Given the description of an element on the screen output the (x, y) to click on. 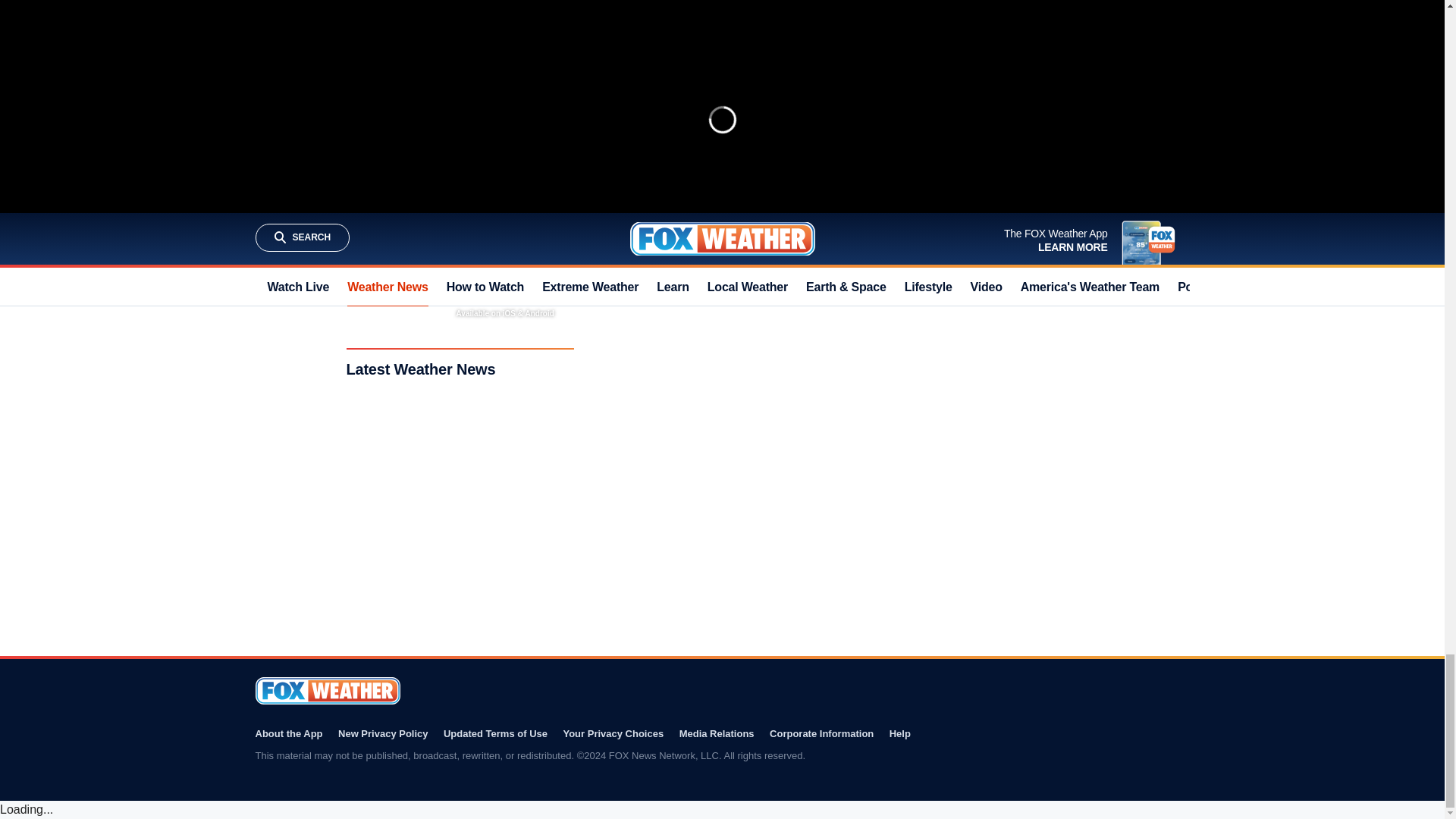
SNOW (722, 163)
WINTER WEATHER (657, 163)
NEW ENGLAND (891, 163)
NORTHEAST (821, 163)
FLOOD (766, 163)
